Given the description of an element on the screen output the (x, y) to click on. 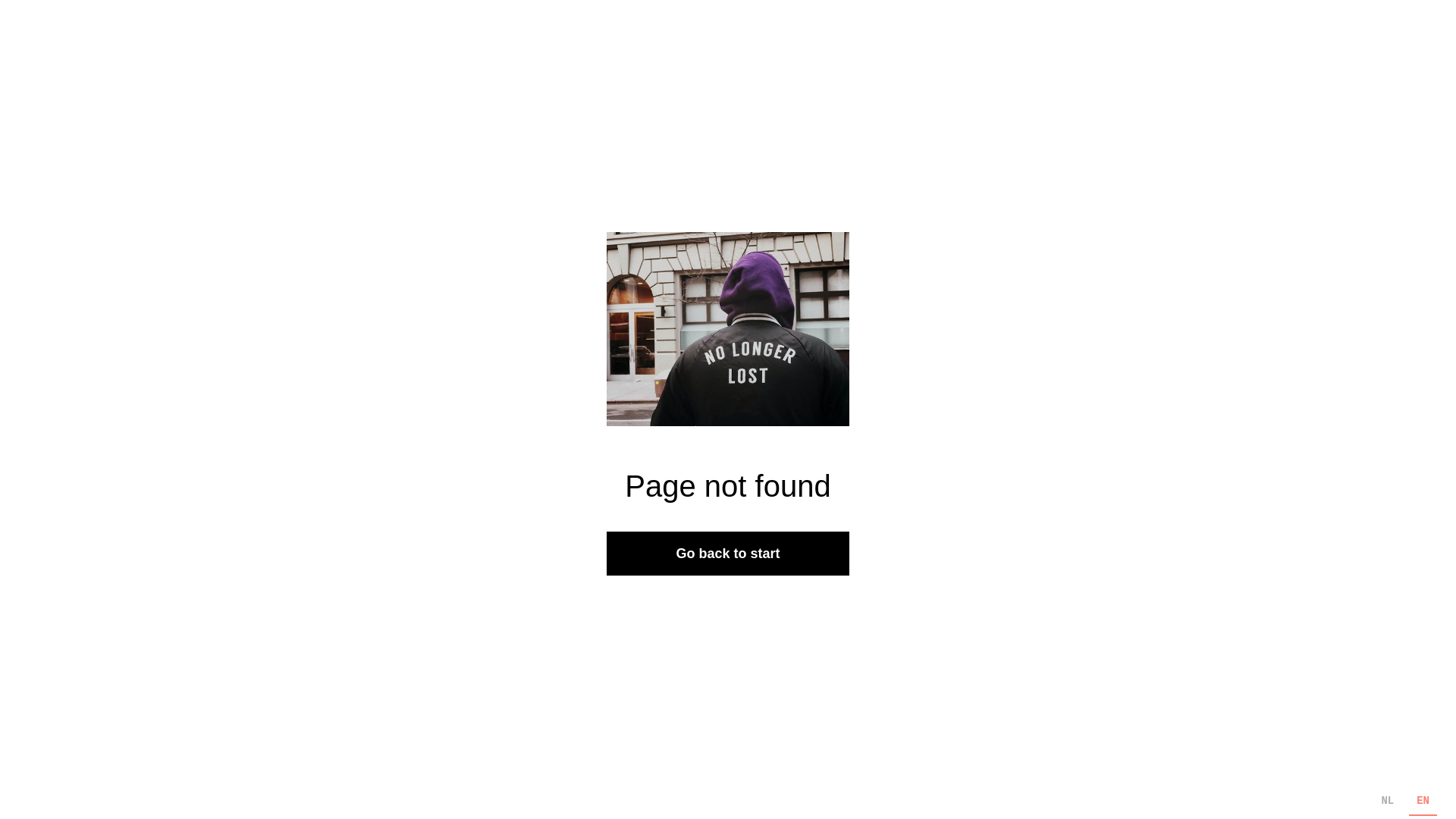
NL Element type: text (1386, 802)
EN Element type: text (1422, 802)
Go back to start Element type: text (727, 553)
